Given the description of an element on the screen output the (x, y) to click on. 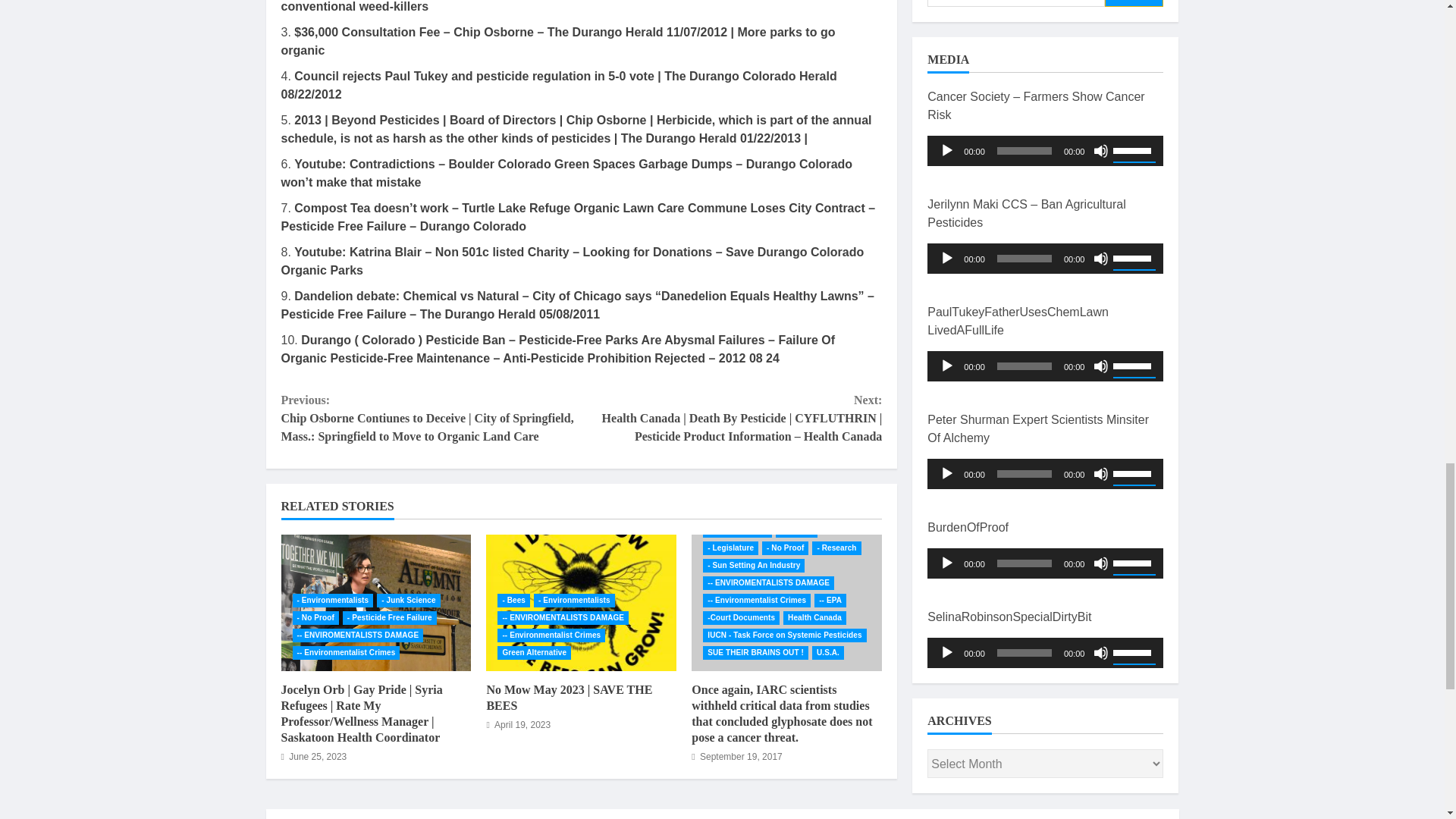
- Pesticide Free Failure (389, 617)
- Junk Science (408, 600)
-- ENVIROMENTALISTS DAMAGE (357, 635)
- Environmentalists (333, 600)
- No Proof (315, 617)
-- Environmentalist Crimes (346, 653)
